Given the description of an element on the screen output the (x, y) to click on. 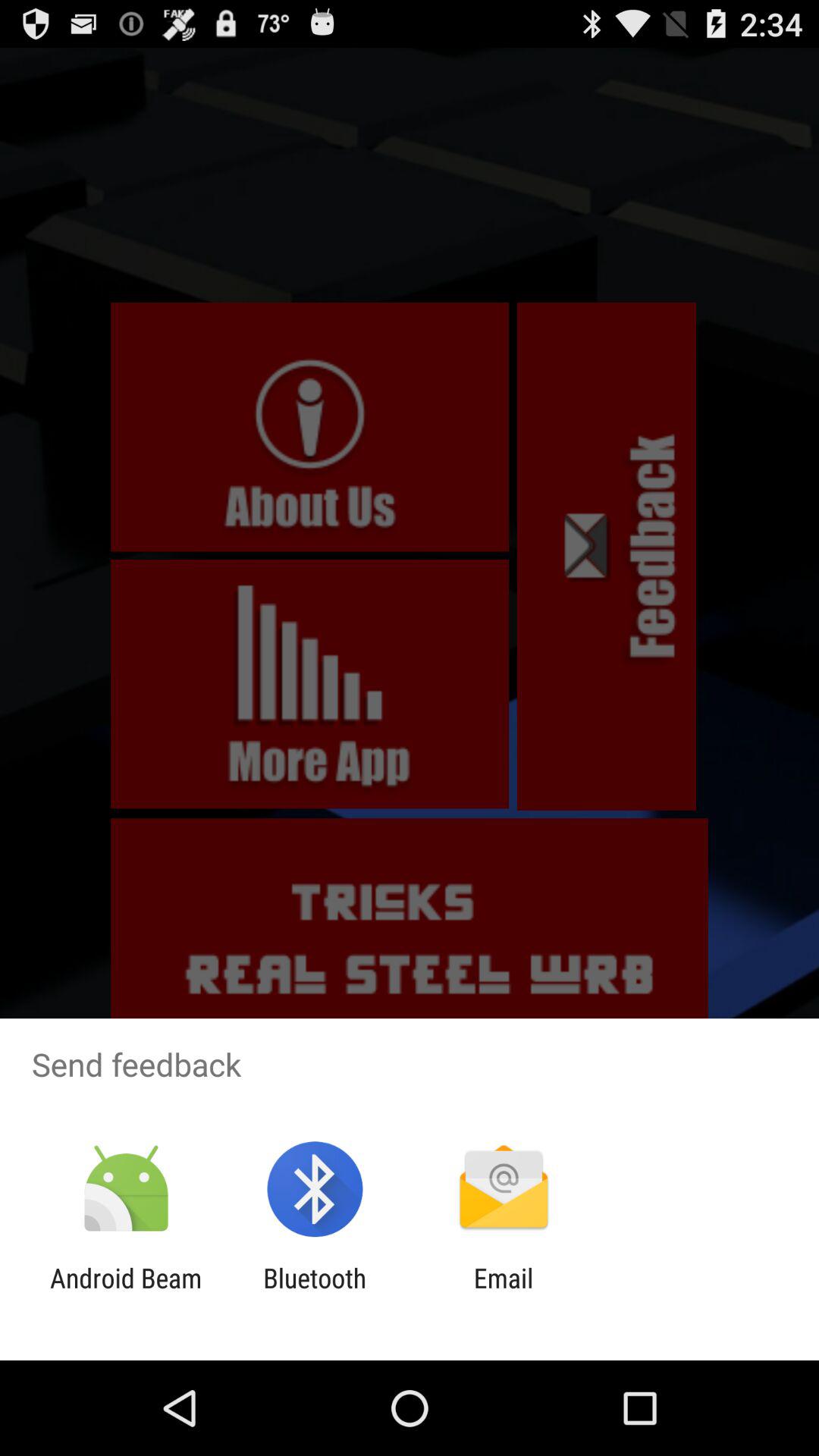
select icon to the right of bluetooth (503, 1293)
